Given the description of an element on the screen output the (x, y) to click on. 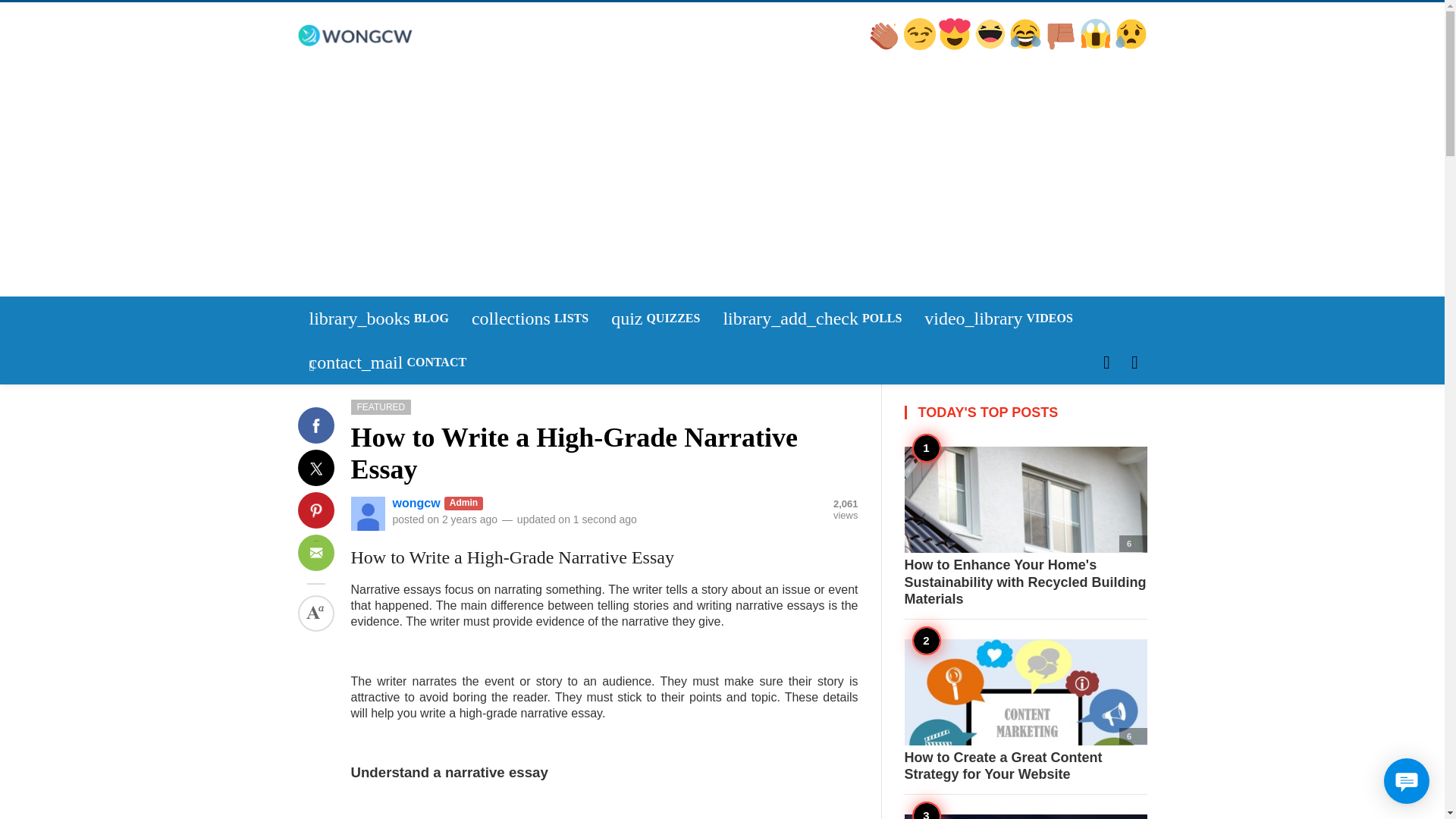
AWESOME! (884, 45)
Log in (329, 474)
EW! (333, 475)
Advertisement (655, 318)
AWESOME! (1131, 45)
LOVED (334, 475)
FUNNY (956, 45)
sign up (1026, 45)
NICE (529, 318)
OMG! (331, 474)
FAIL! (921, 45)
LOL (1097, 45)
